Given the description of an element on the screen output the (x, y) to click on. 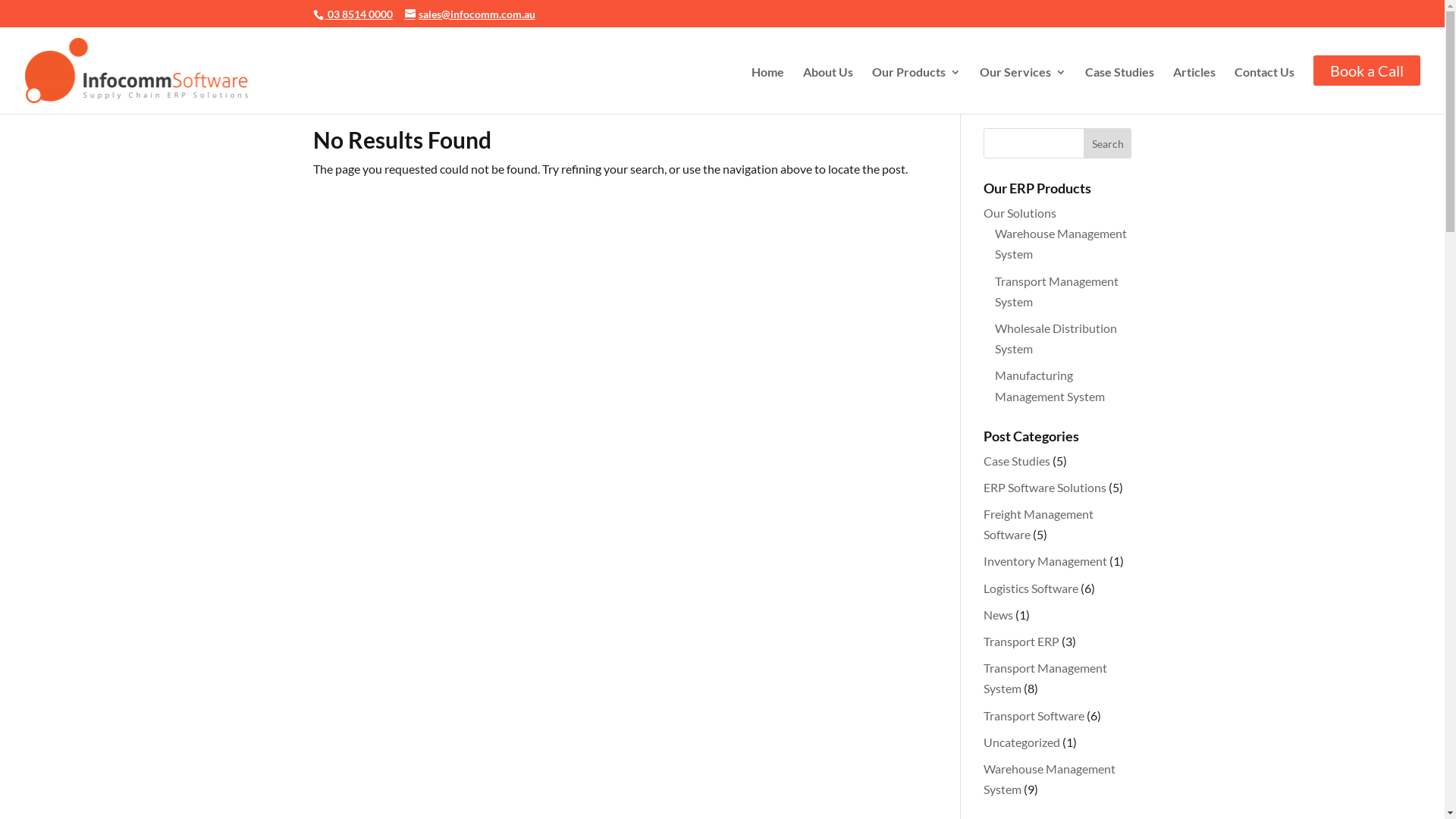
Book a Call Element type: text (1366, 70)
Case Studies Element type: text (1016, 460)
About Us Element type: text (828, 86)
Home Element type: text (767, 86)
Freight Management Software Element type: text (1038, 523)
Transport Management System Element type: text (1056, 290)
Transport ERP Element type: text (1021, 640)
Inventory Management Element type: text (1045, 560)
Contact Us Element type: text (1264, 86)
03 8514 0000 Element type: text (358, 13)
Our Solutions Element type: text (1019, 212)
Warehouse Management System Element type: text (1049, 778)
Case Studies Element type: text (1119, 86)
Logistics Software Element type: text (1030, 587)
Book a Call Element type: text (1366, 85)
Articles Element type: text (1194, 86)
Manufacturing Management System Element type: text (1049, 384)
Our Services Element type: text (1022, 86)
sales@infocomm.com.au Element type: text (469, 13)
Wholesale Distribution System Element type: text (1055, 337)
Transport Management System Element type: text (1045, 677)
Uncategorized Element type: text (1021, 741)
Warehouse Management System Element type: text (1060, 242)
Our Products Element type: text (916, 86)
Transport Software Element type: text (1033, 715)
ERP Software Solutions Element type: text (1044, 487)
News Element type: text (998, 614)
Search Element type: text (1107, 143)
